Given the description of an element on the screen output the (x, y) to click on. 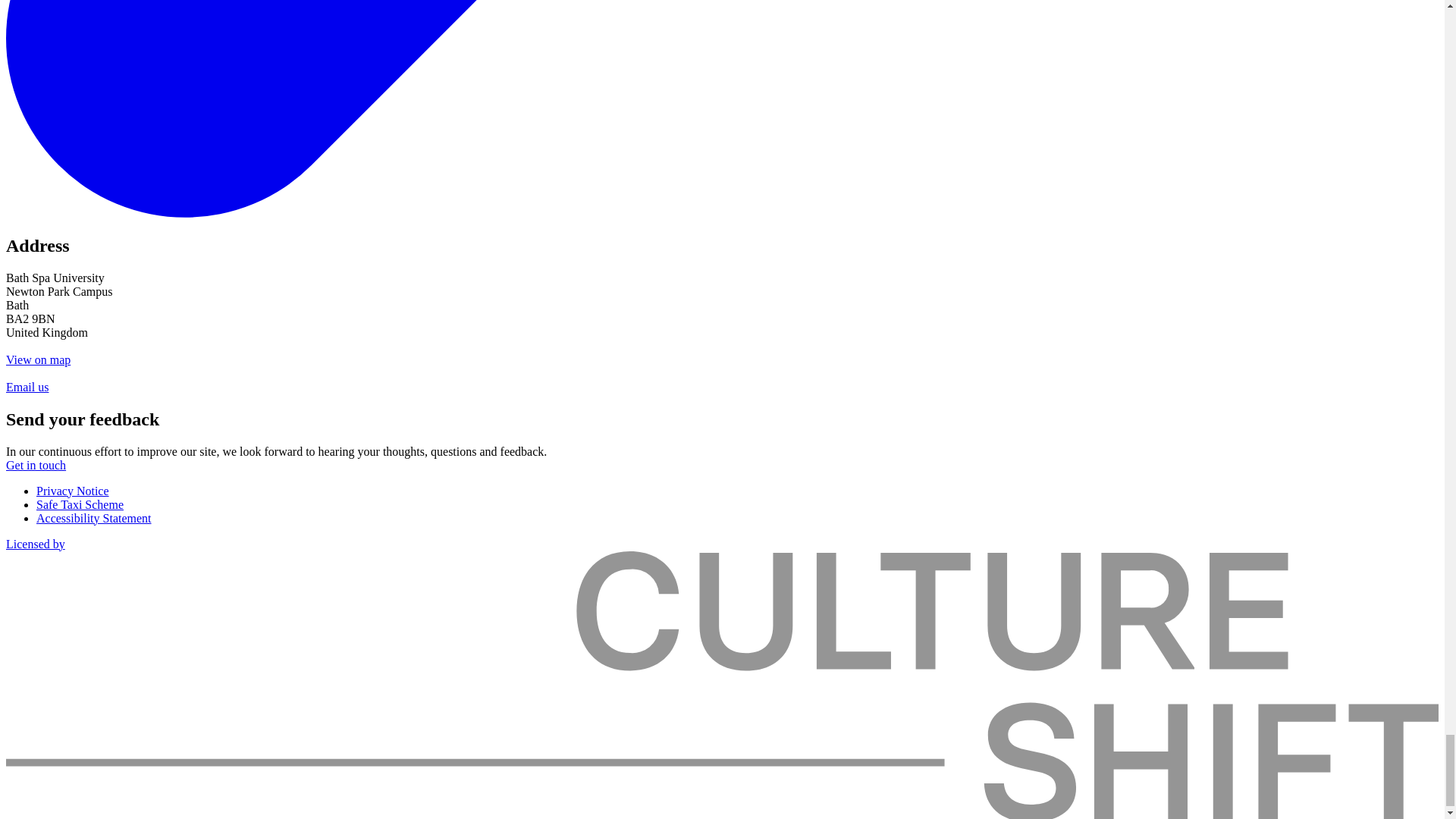
View on map (37, 359)
Accessibility Statement (93, 517)
Email us (26, 386)
Safe Taxi Scheme (79, 504)
Get in touch (35, 464)
Privacy Notice (72, 490)
